Given the description of an element on the screen output the (x, y) to click on. 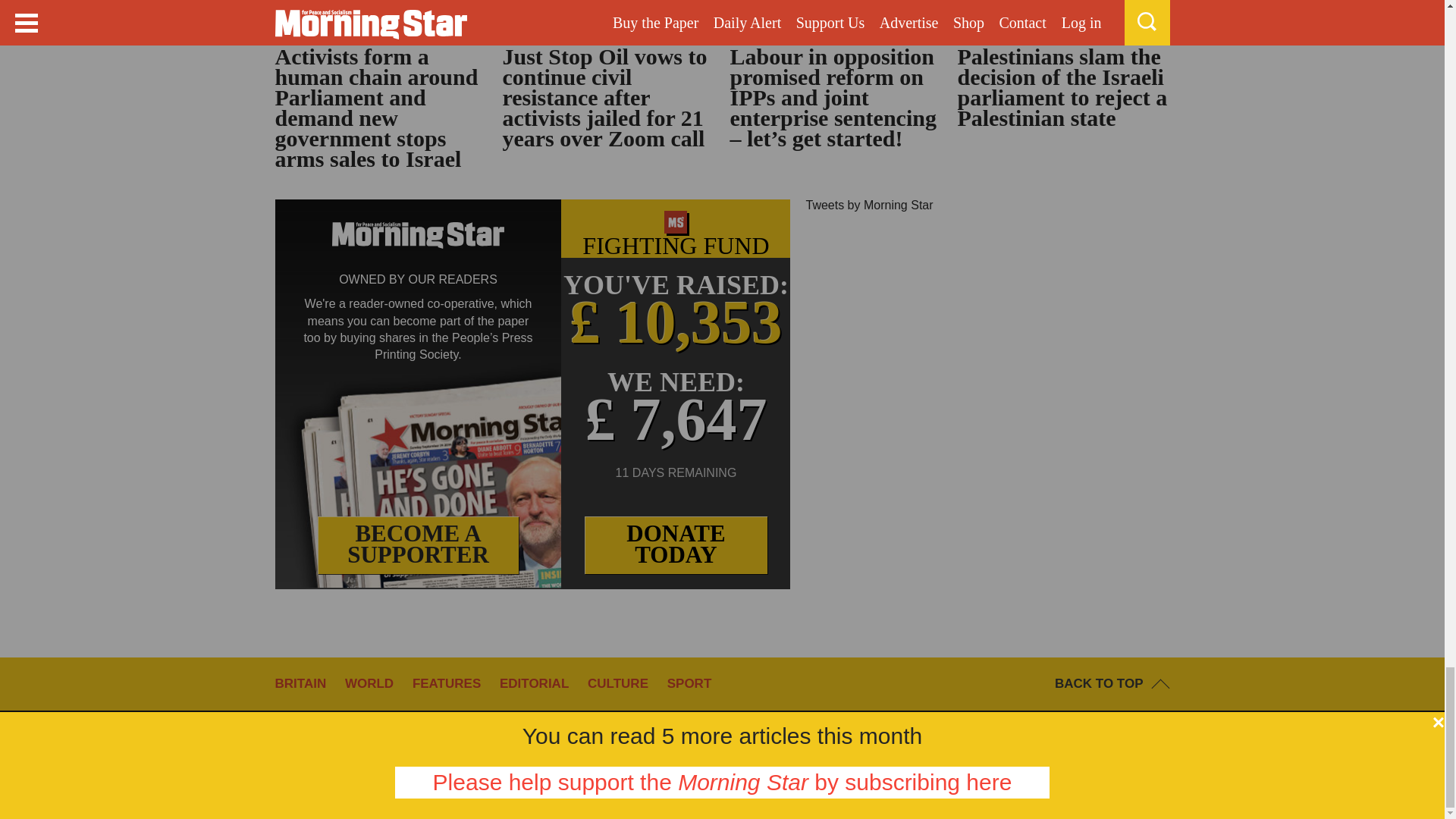
Editorial (541, 683)
Features (454, 683)
Culture (625, 683)
Sport (696, 683)
Britain (307, 683)
World (377, 683)
